Given the description of an element on the screen output the (x, y) to click on. 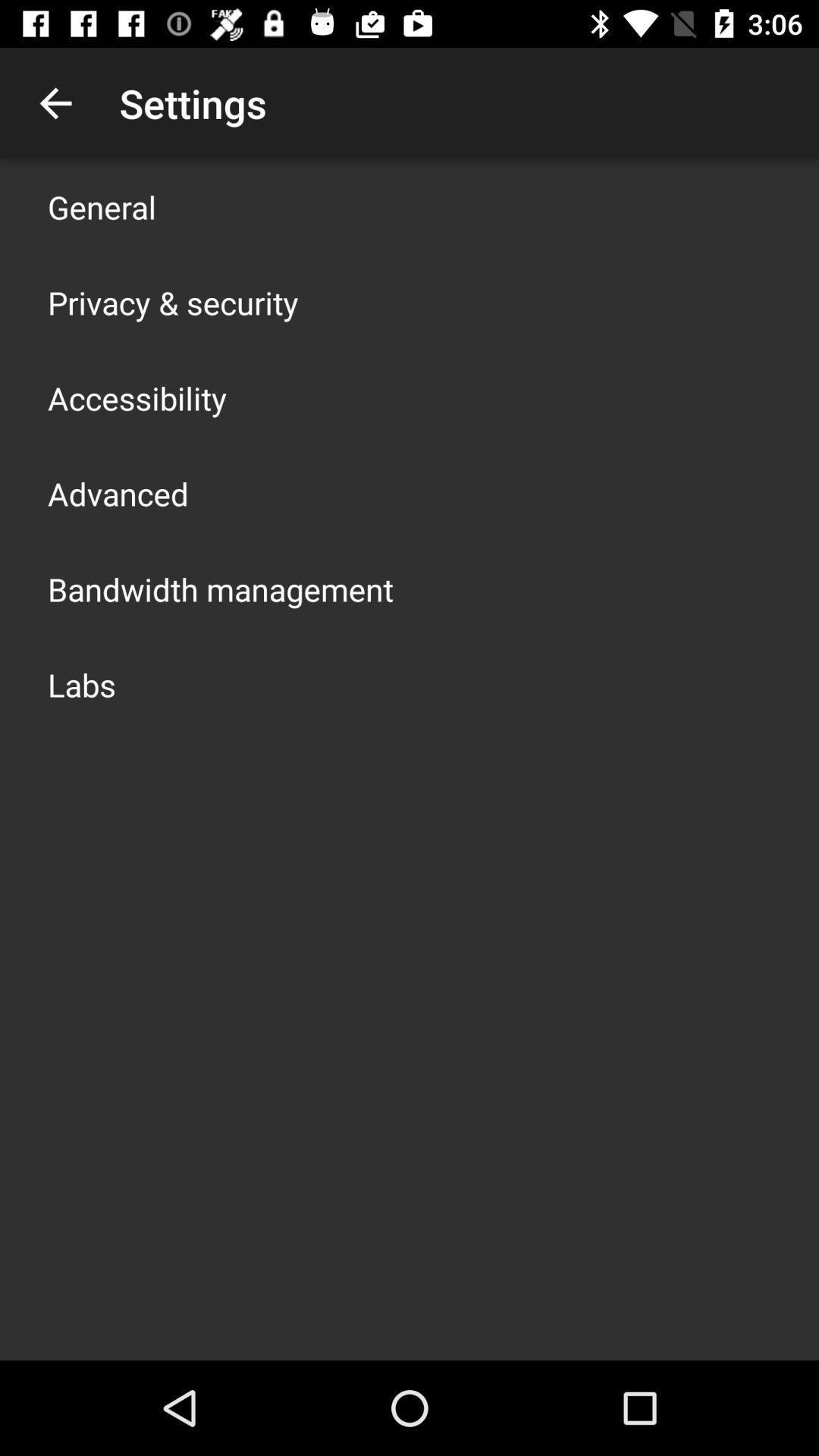
swipe to privacy & security item (172, 302)
